Given the description of an element on the screen output the (x, y) to click on. 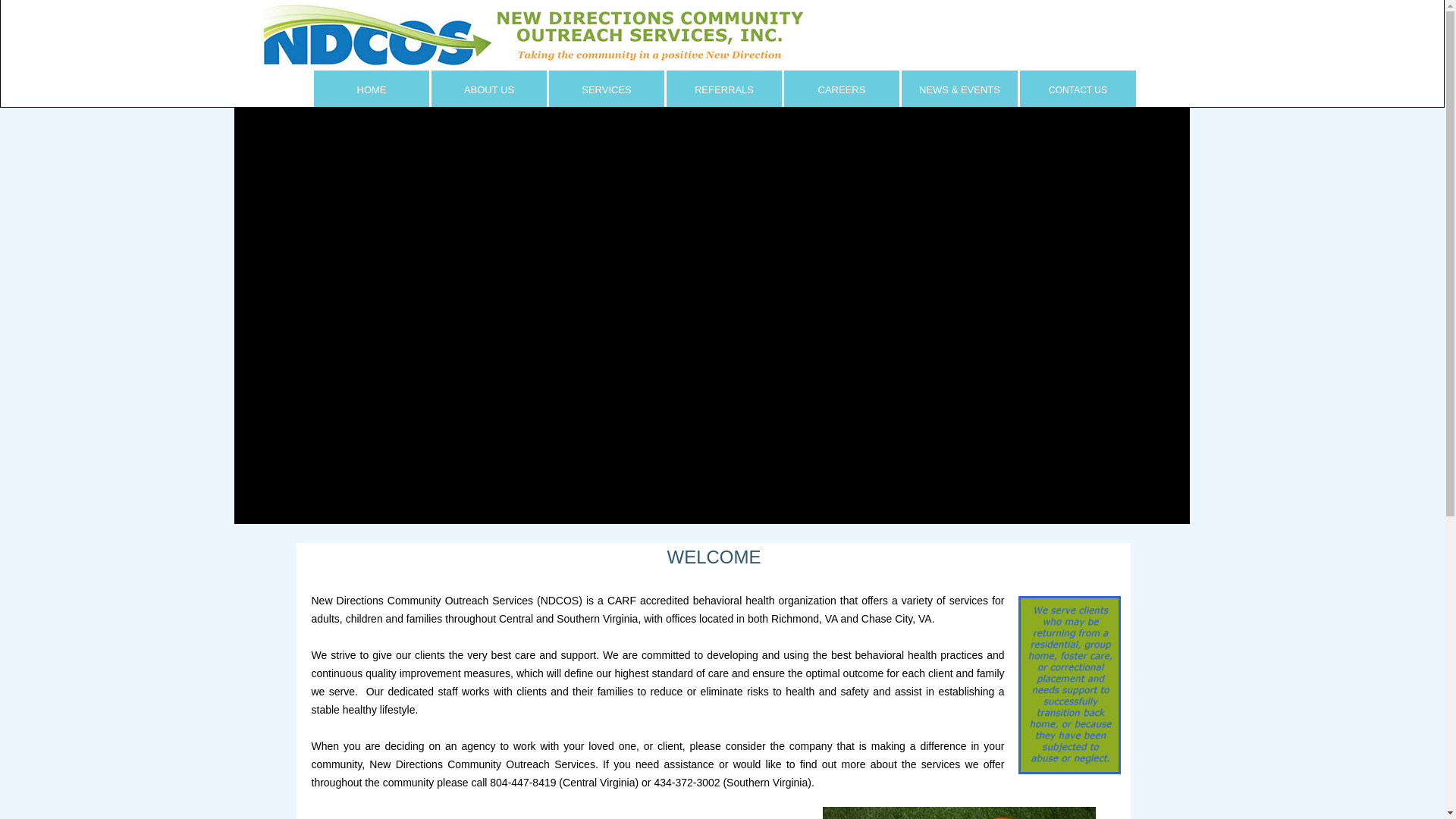
CONTACT US (1078, 88)
ABOUT US (488, 88)
SERVICES (606, 88)
HOME (371, 88)
CAREERS (841, 88)
REFERRALS (724, 88)
